Given the description of an element on the screen output the (x, y) to click on. 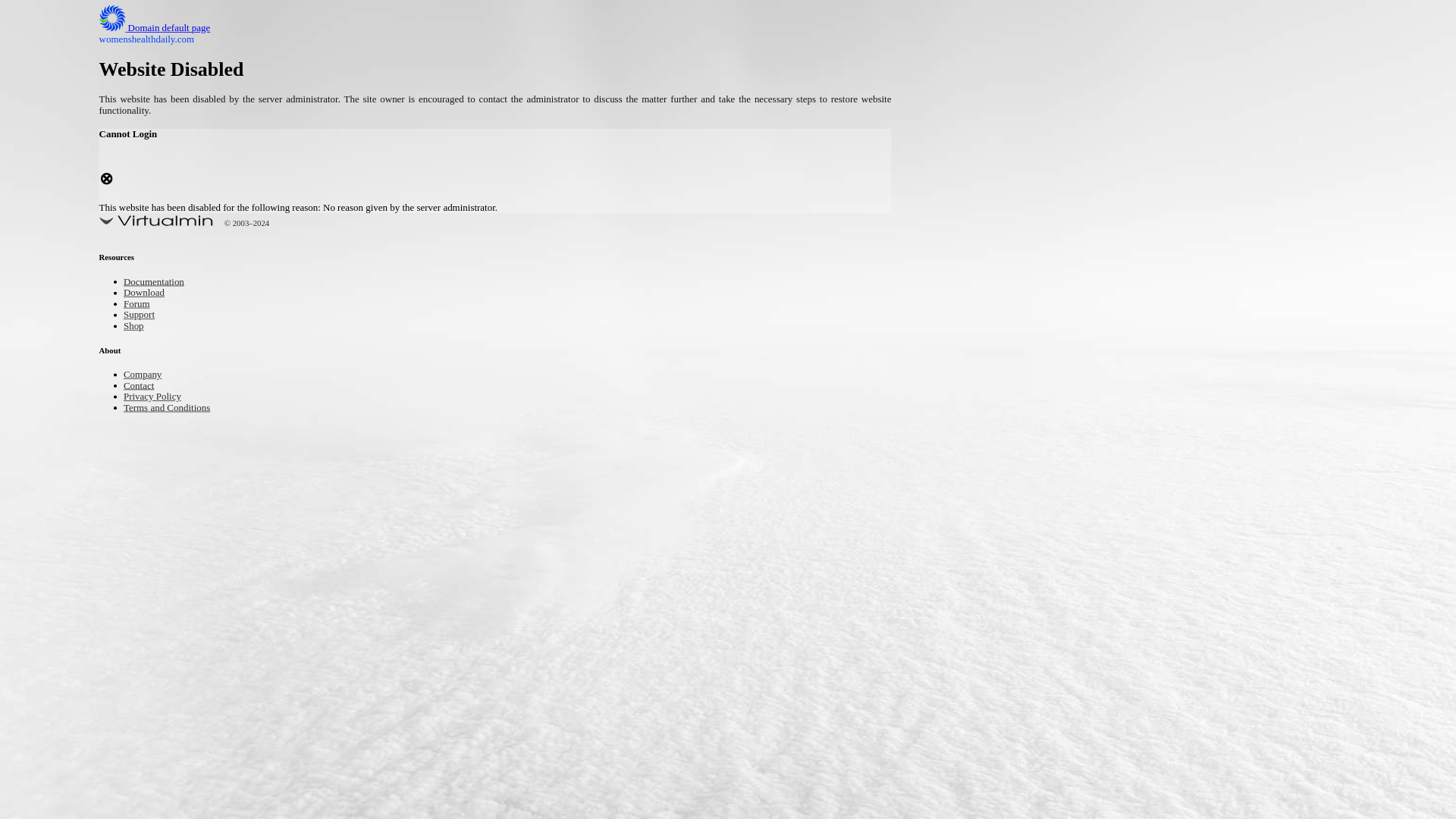
Forum (139, 305)
Domain default page (167, 29)
Support (142, 315)
Privacy Policy (159, 397)
Contact (142, 386)
Documentation (160, 282)
Company (146, 374)
Terms and Conditions (176, 408)
Shop (135, 327)
Download (148, 293)
